Given the description of an element on the screen output the (x, y) to click on. 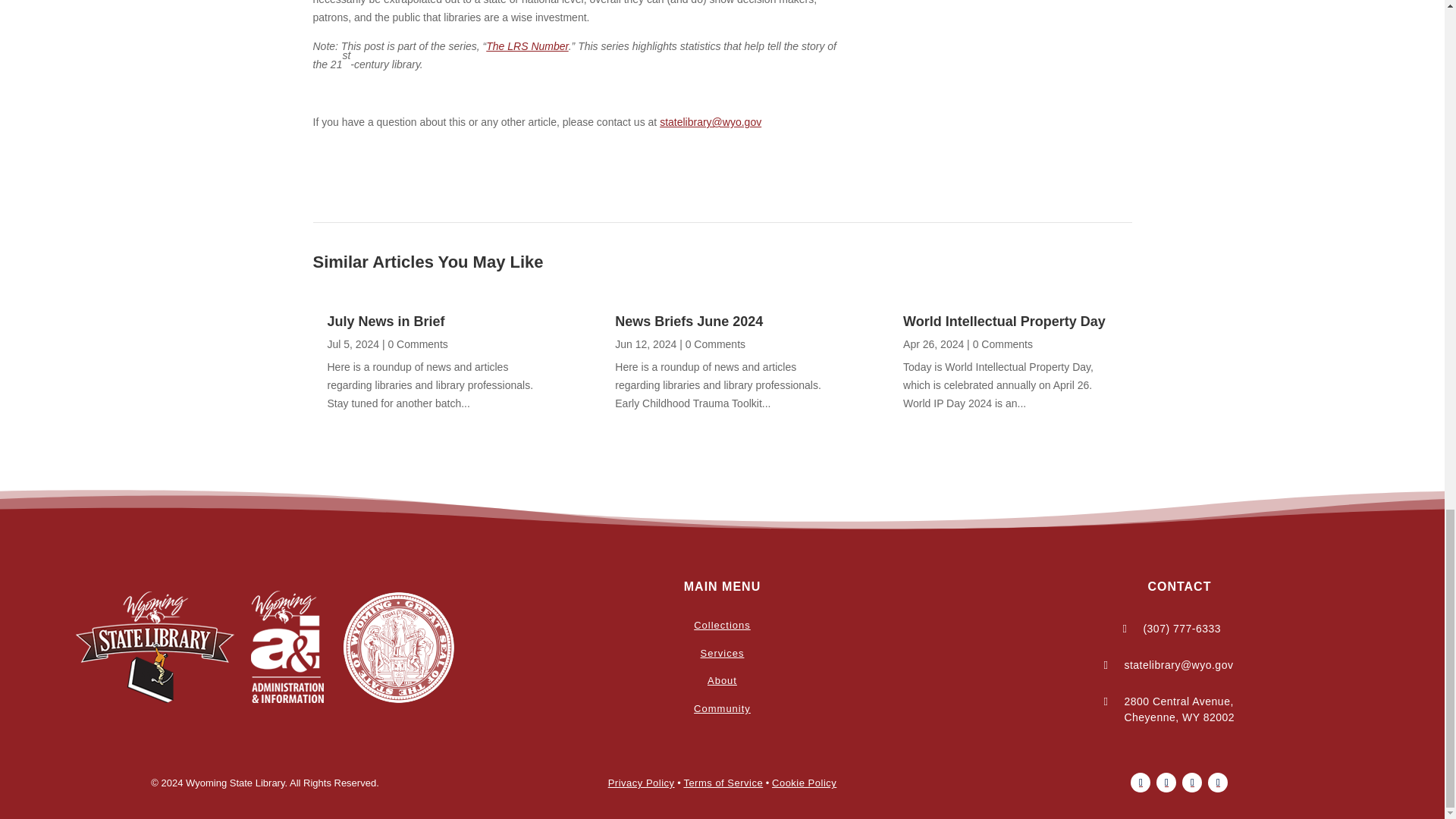
footer-logos (264, 647)
Follow on Facebook (1140, 782)
Follow on X (1166, 782)
Follow on Youtube (1192, 782)
Follow on LinkedIn (1217, 782)
